Given the description of an element on the screen output the (x, y) to click on. 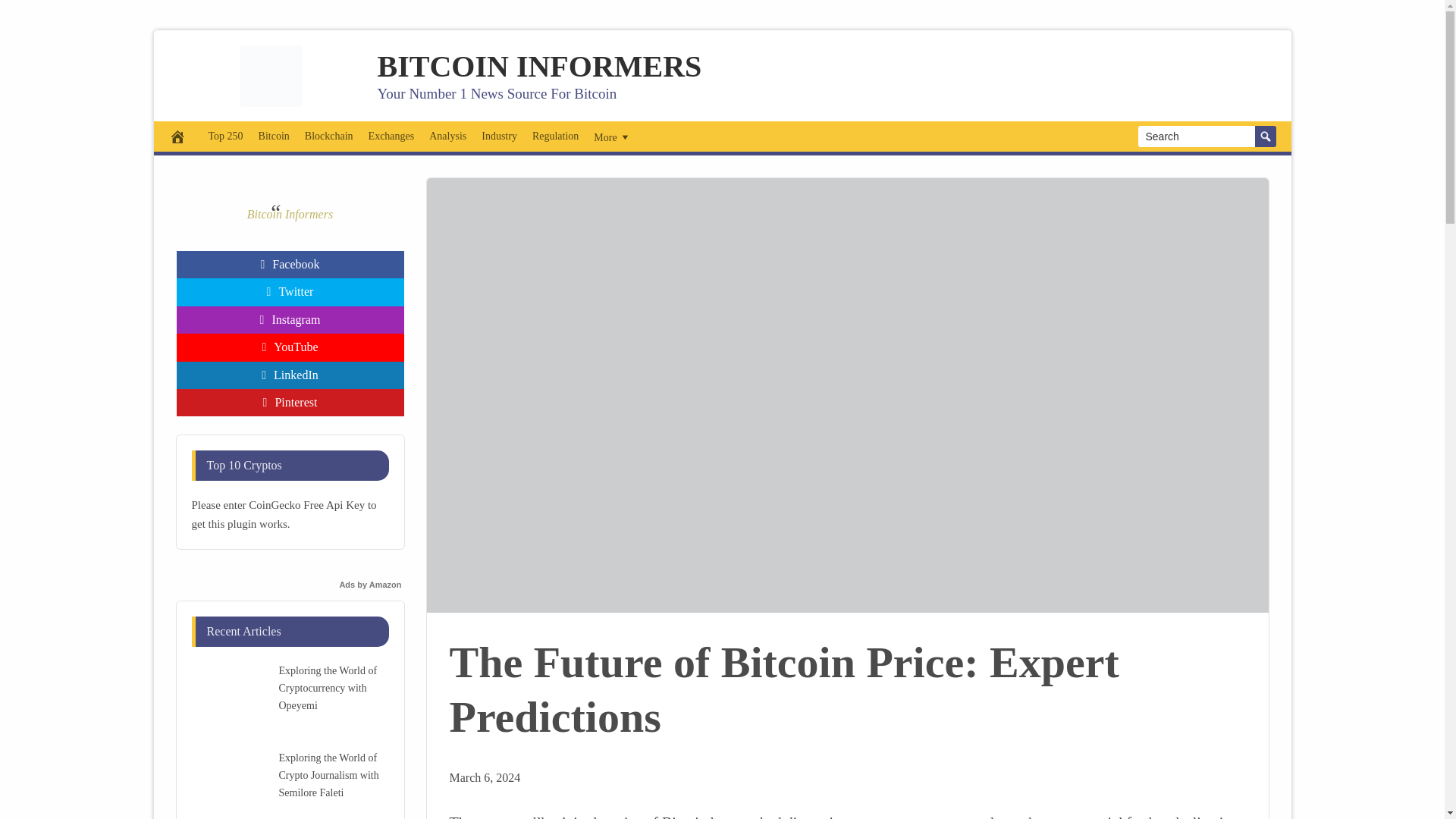
Industry (499, 136)
Top 250 (225, 136)
Regulation (555, 136)
BITCOIN INFORMERS (539, 65)
Exchanges (391, 136)
More (612, 136)
Blockchain (329, 136)
Analysis (448, 136)
